Given the description of an element on the screen output the (x, y) to click on. 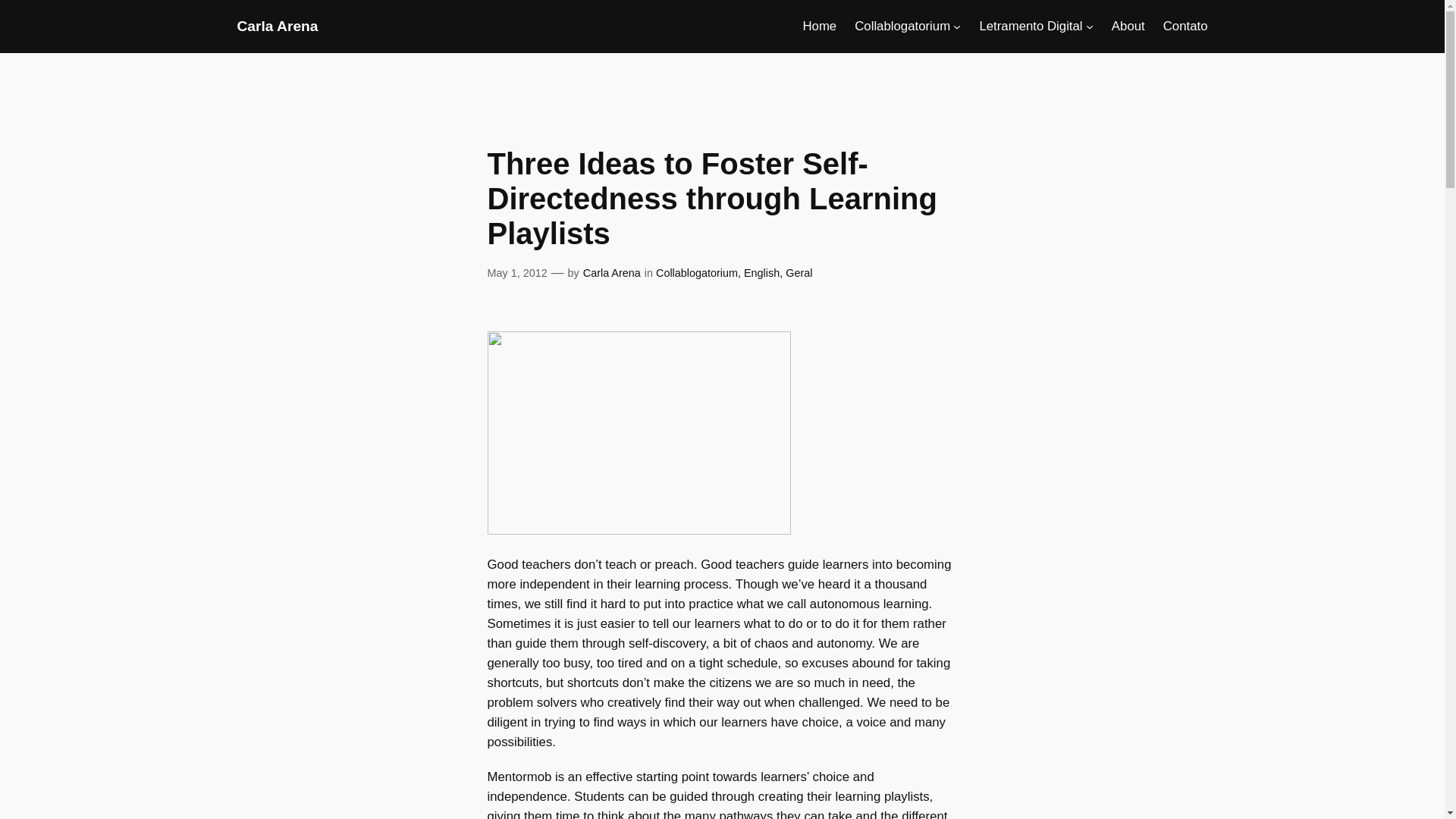
Collablogatorium (697, 272)
About (1128, 26)
Collablogatorium (902, 26)
Carla Arena (611, 272)
Contato (1185, 26)
English (761, 272)
May 1, 2012 (516, 272)
Geral (799, 272)
Letramento Digital (1029, 26)
Home (818, 26)
Carla Arena (276, 26)
